Given the description of an element on the screen output the (x, y) to click on. 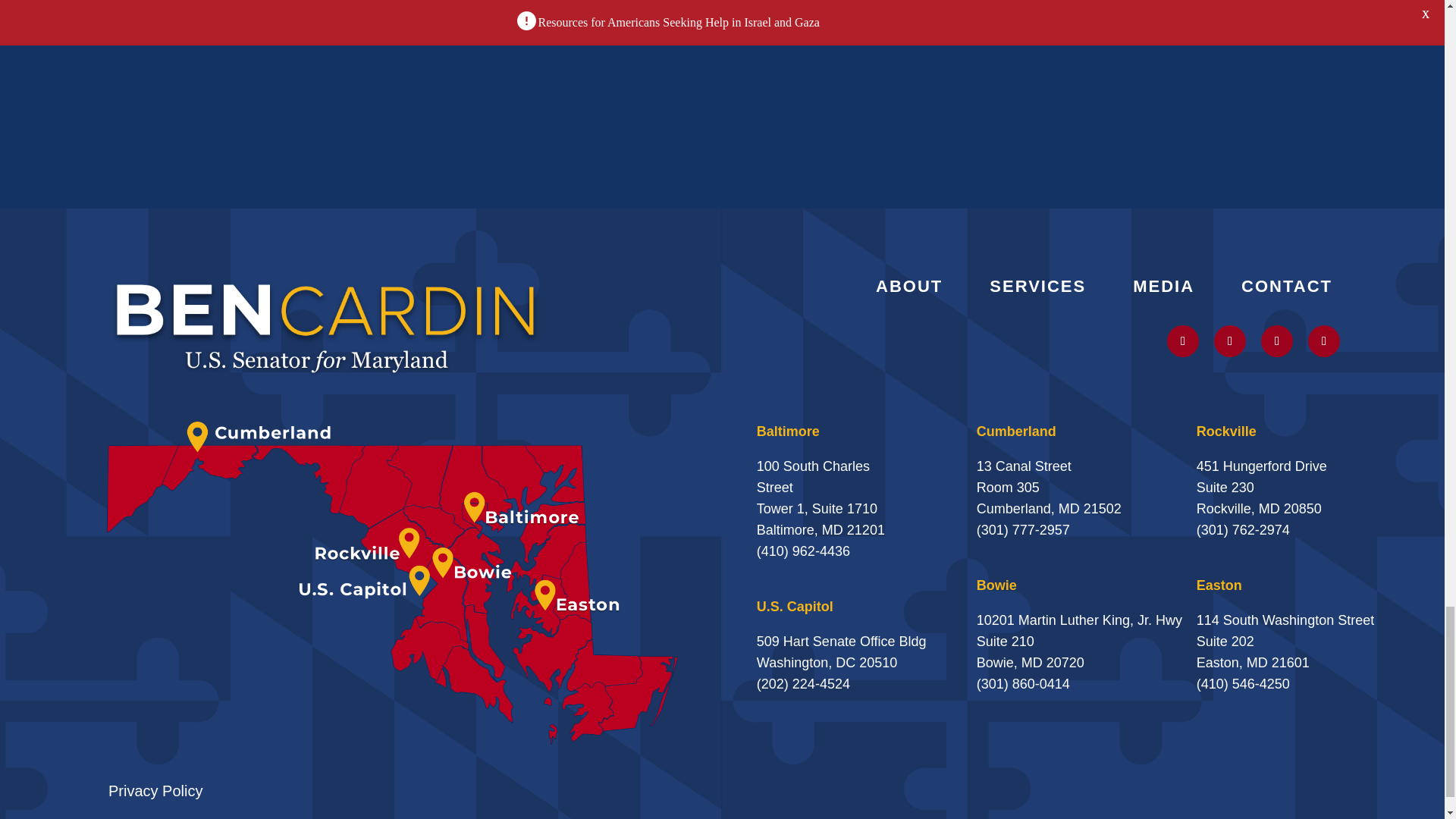
Footer (326, 325)
Privacy Policy (154, 790)
Follow on Youtube (1276, 341)
Follow on X (1182, 341)
Follow on Instagram (1230, 341)
Follow on Facebook (1323, 341)
